Given the description of an element on the screen output the (x, y) to click on. 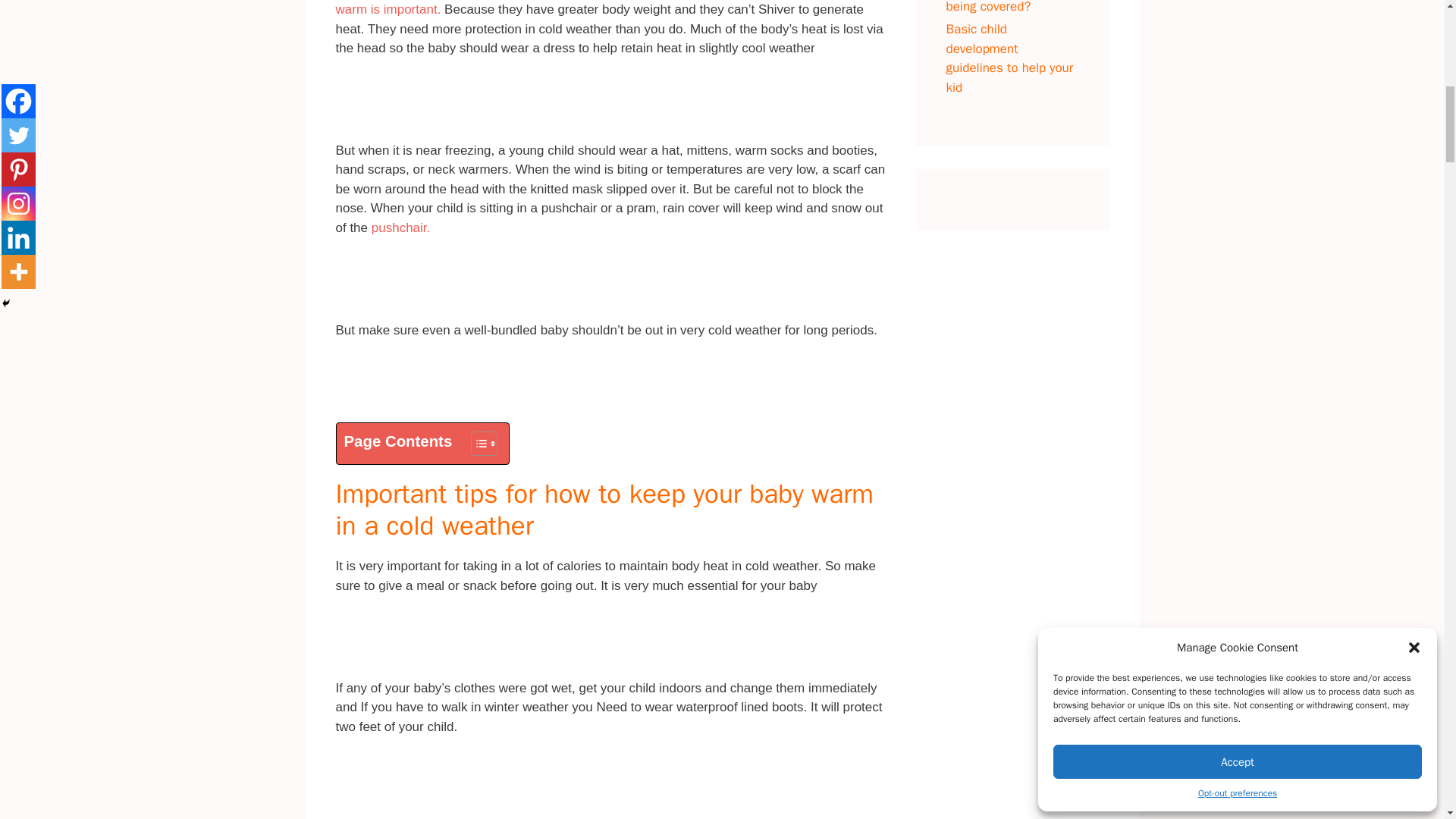
8 things to keep your baby warm at winter nights (592, 8)
So how to keep your baby warm is important. (592, 8)
pushchair. (400, 227)
